Given the description of an element on the screen output the (x, y) to click on. 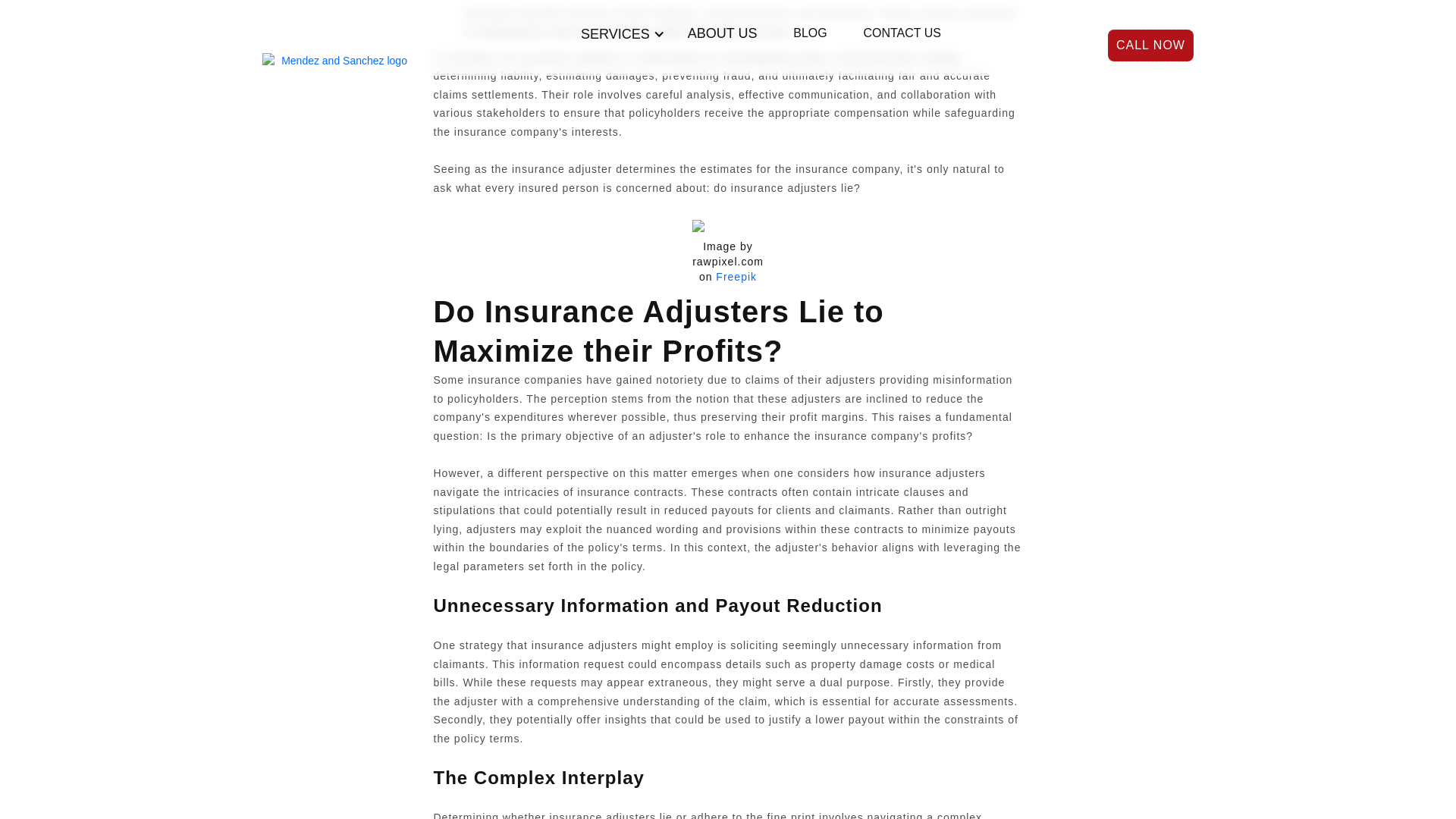
Freepik (734, 276)
